Given the description of an element on the screen output the (x, y) to click on. 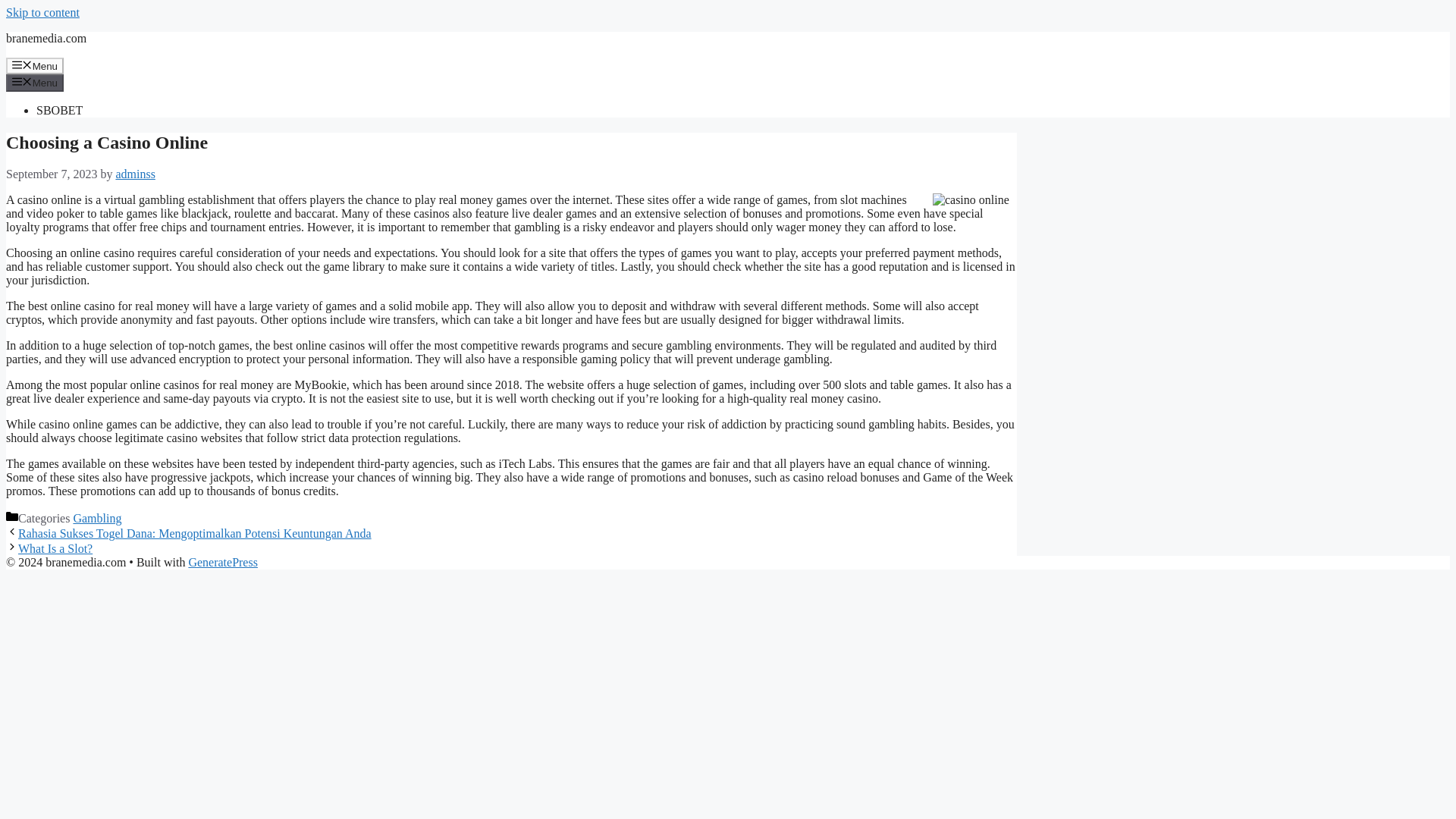
View all posts by adminss (134, 173)
Skip to content (42, 11)
branemedia.com (45, 38)
SBOBET (59, 110)
adminss (134, 173)
Menu (34, 82)
Skip to content (42, 11)
What Is a Slot? (55, 548)
Gambling (96, 517)
